Given the description of an element on the screen output the (x, y) to click on. 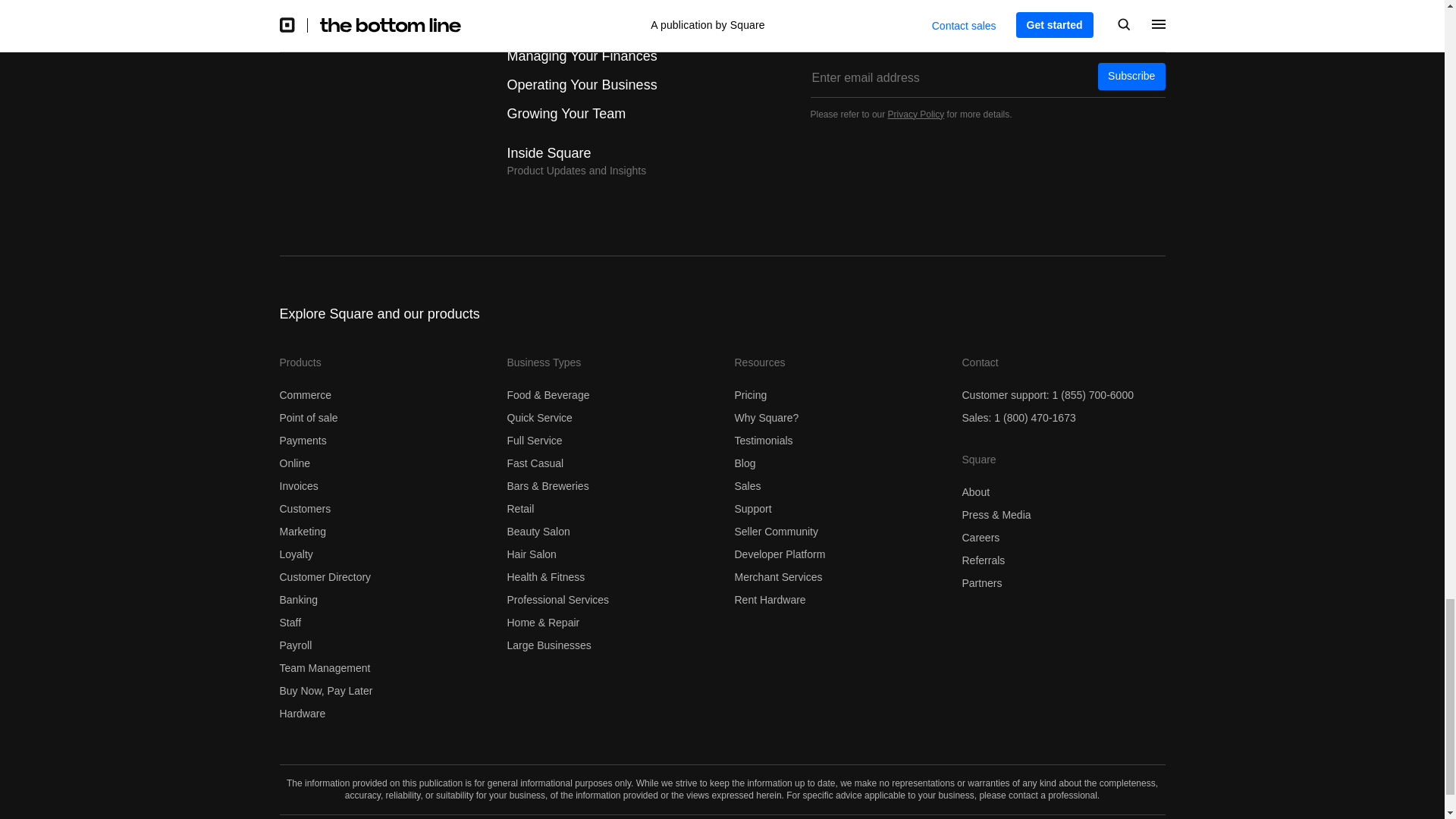
Product Updates and Insights (576, 161)
